Given the description of an element on the screen output the (x, y) to click on. 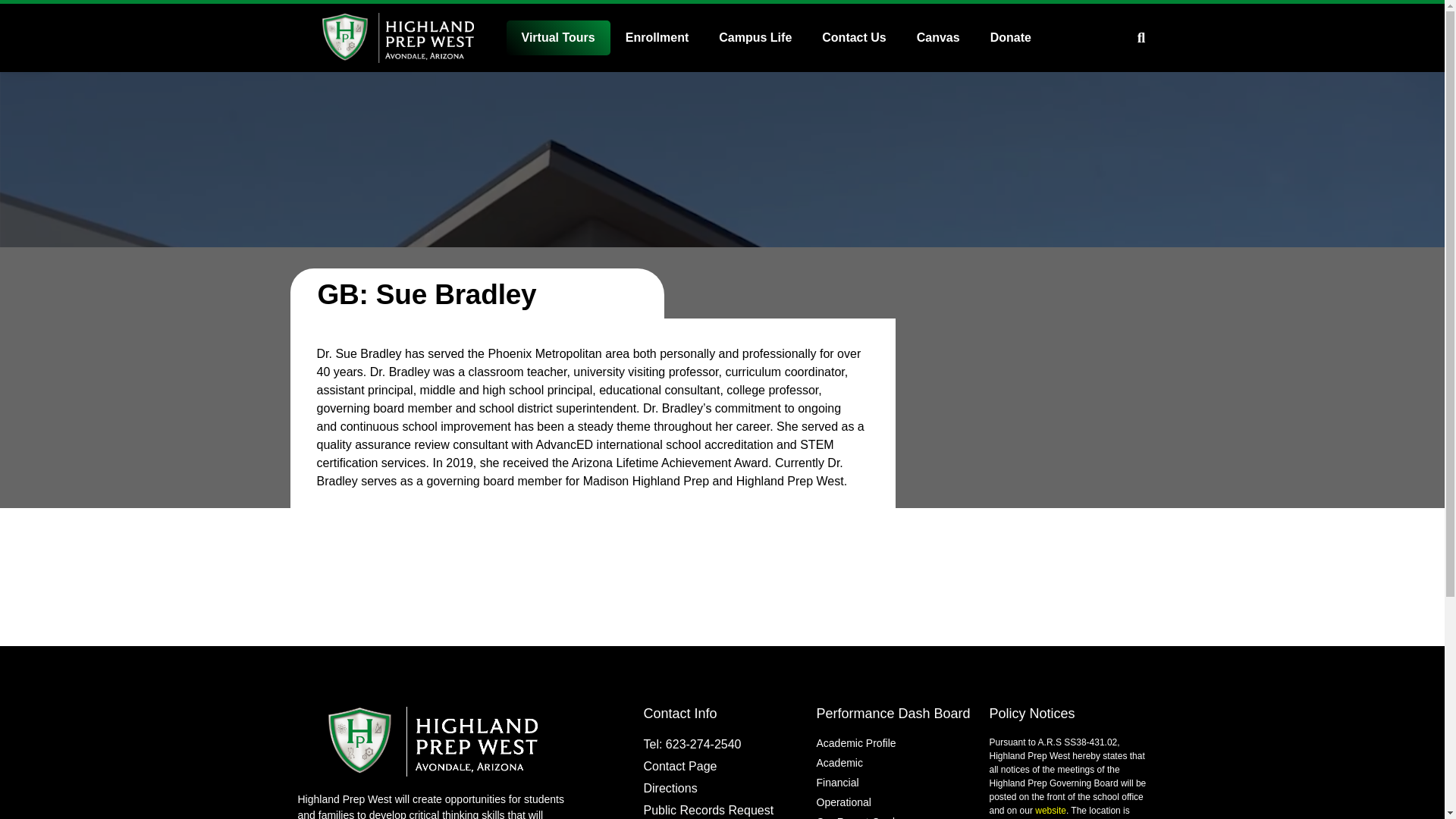
Enrollment (657, 37)
Campus Life (754, 37)
Virtual Tours (558, 37)
